Given the description of an element on the screen output the (x, y) to click on. 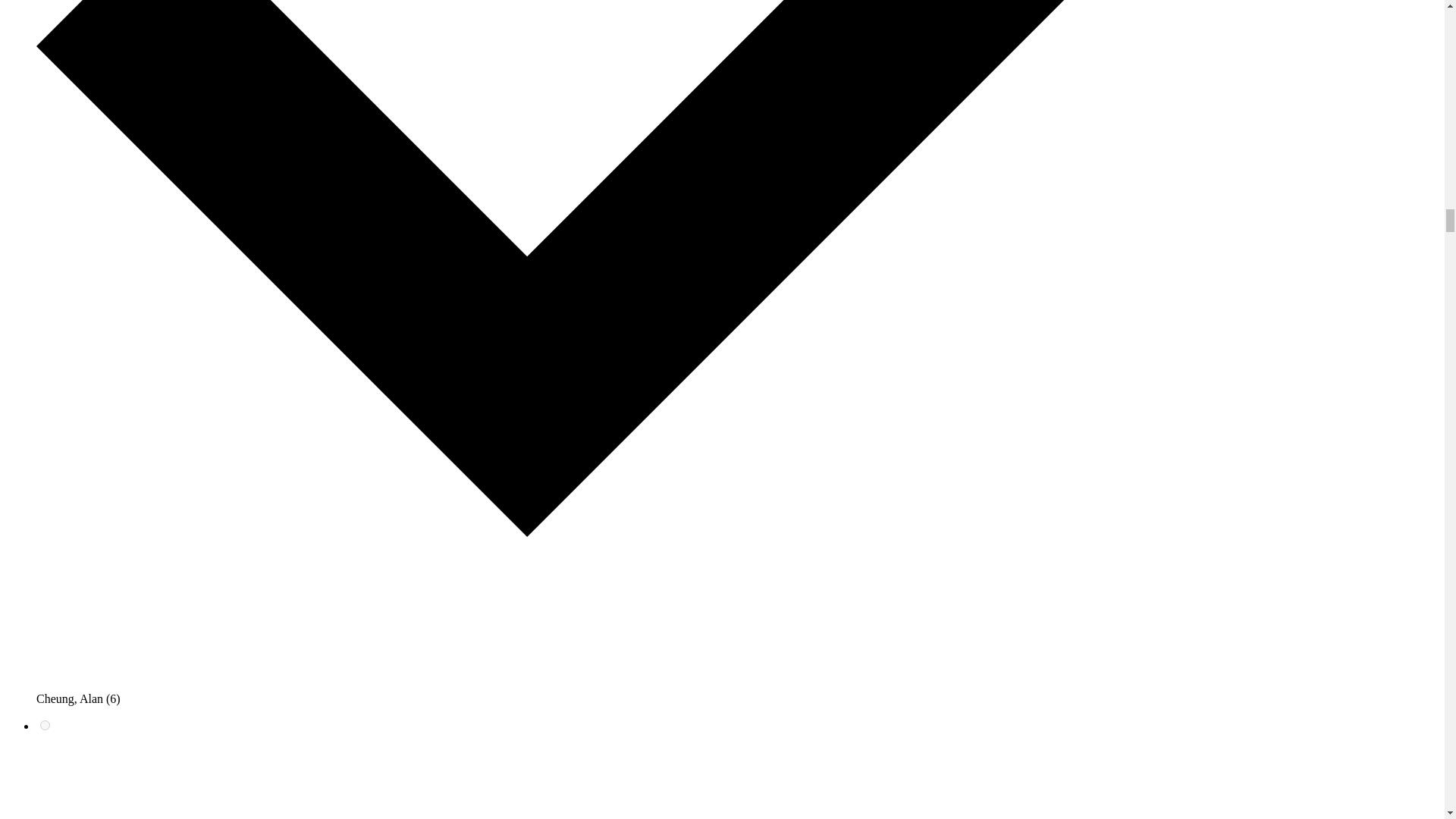
Keung, Pui Chi Chrysa (44, 725)
